Given the description of an element on the screen output the (x, y) to click on. 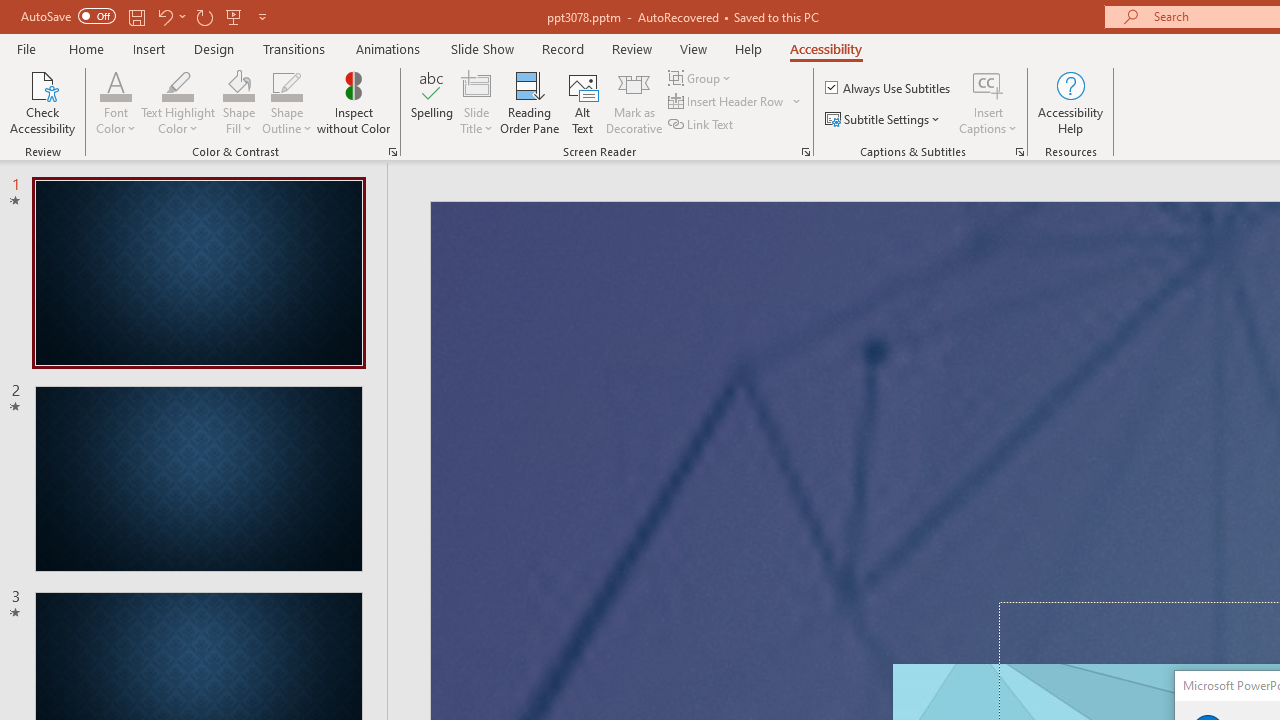
Screen Reader (805, 151)
Insert Captions (988, 102)
Accessibility Help (1070, 102)
Reading Order Pane (529, 102)
Shape Fill (238, 102)
Shape Fill (238, 84)
Text Highlight Color (178, 102)
